Given the description of an element on the screen output the (x, y) to click on. 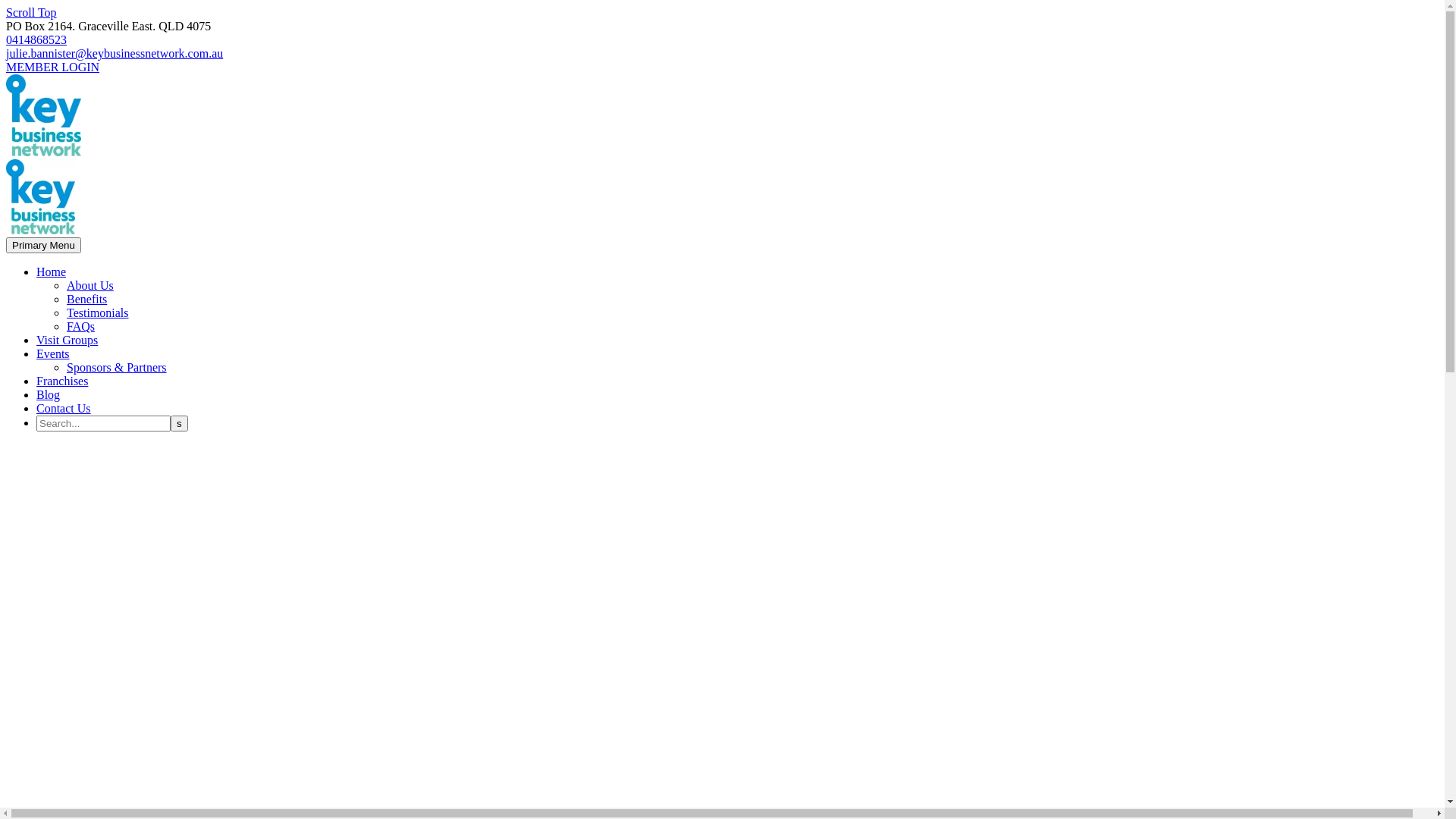
Benefits Element type: text (86, 298)
Blog Element type: text (47, 394)
s Element type: text (179, 423)
julie.bannister@keybusinessnetwork.com.au Element type: text (114, 53)
MEMBER LOGIN Element type: text (52, 66)
Contact Us Element type: text (63, 407)
Sponsors & Partners Element type: text (116, 366)
About Us Element type: text (89, 285)
FAQs Element type: text (80, 326)
Franchises Element type: text (61, 380)
Home Element type: text (50, 271)
Visit Groups Element type: text (66, 339)
0414868523 Element type: text (36, 39)
Testimonials Element type: text (97, 312)
Scroll Top Element type: text (31, 12)
Primary Menu Element type: text (43, 245)
Events Element type: text (52, 353)
